Given the description of an element on the screen output the (x, y) to click on. 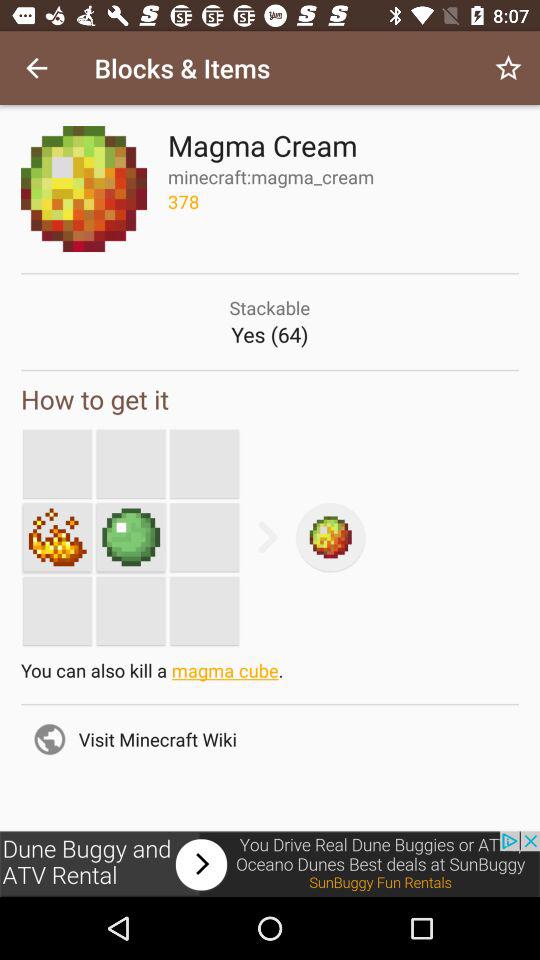
enter item (57, 537)
